Given the description of an element on the screen output the (x, y) to click on. 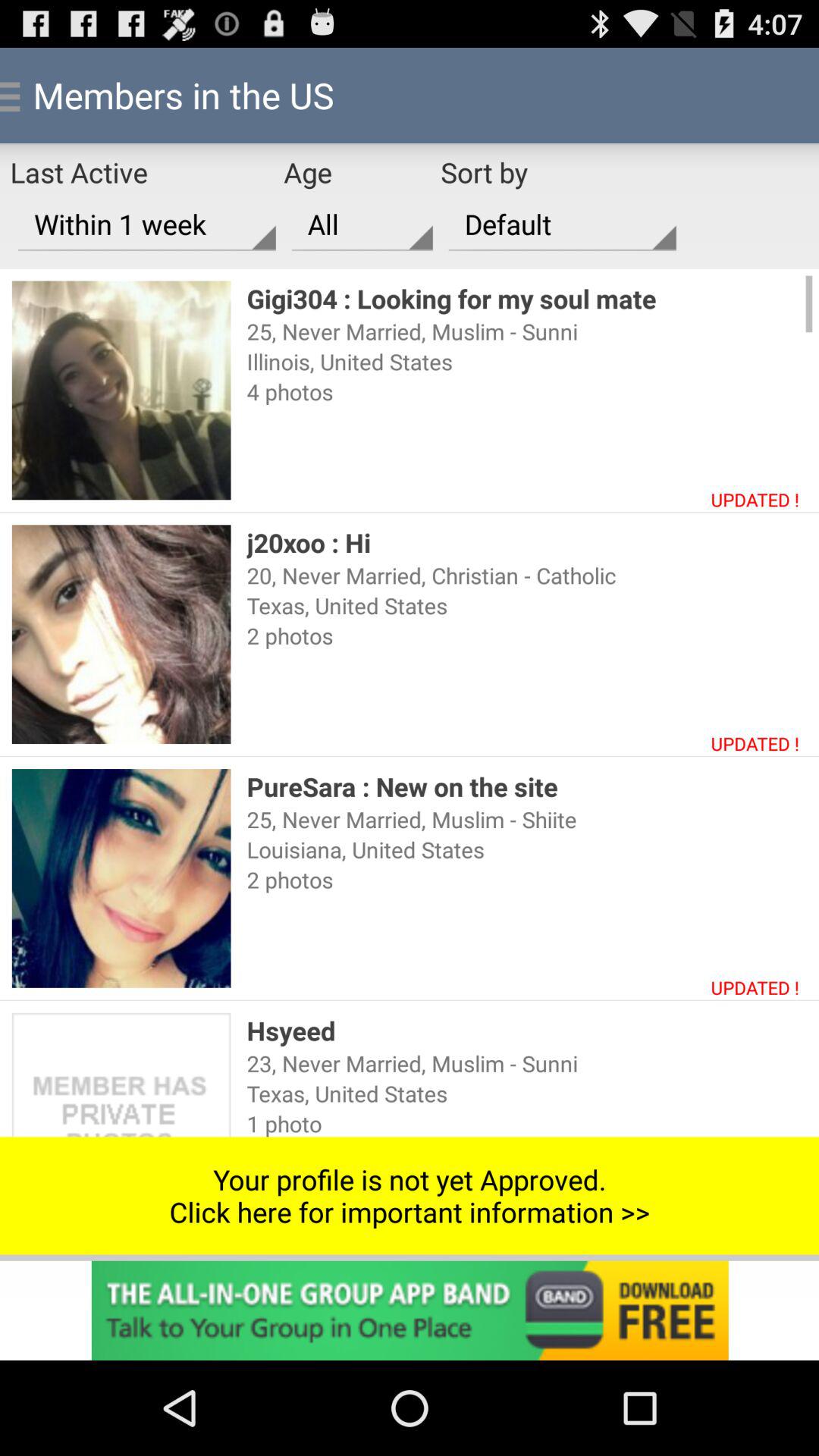
advertisement page (409, 1310)
